Given the description of an element on the screen output the (x, y) to click on. 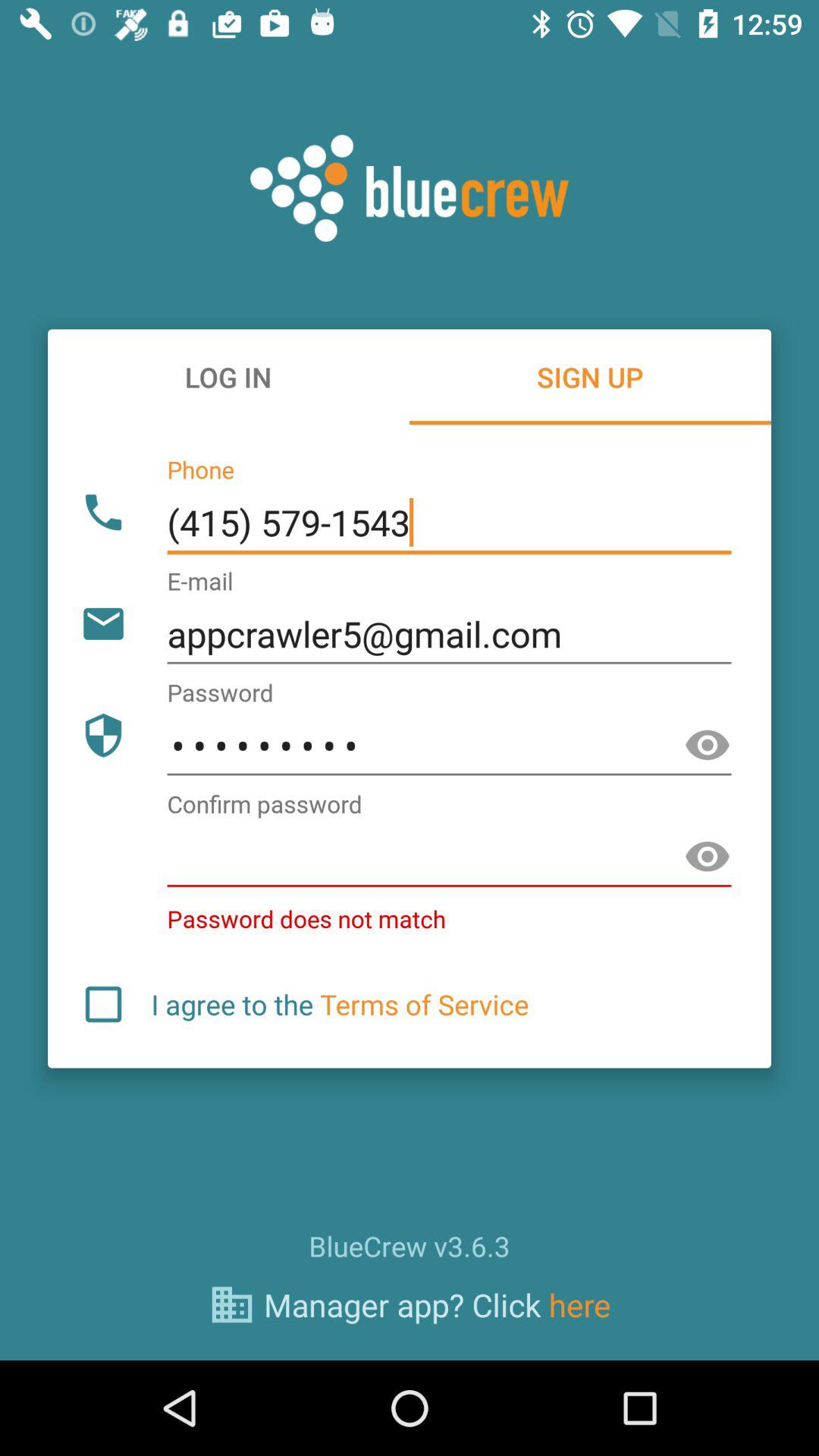
password page (707, 857)
